Given the description of an element on the screen output the (x, y) to click on. 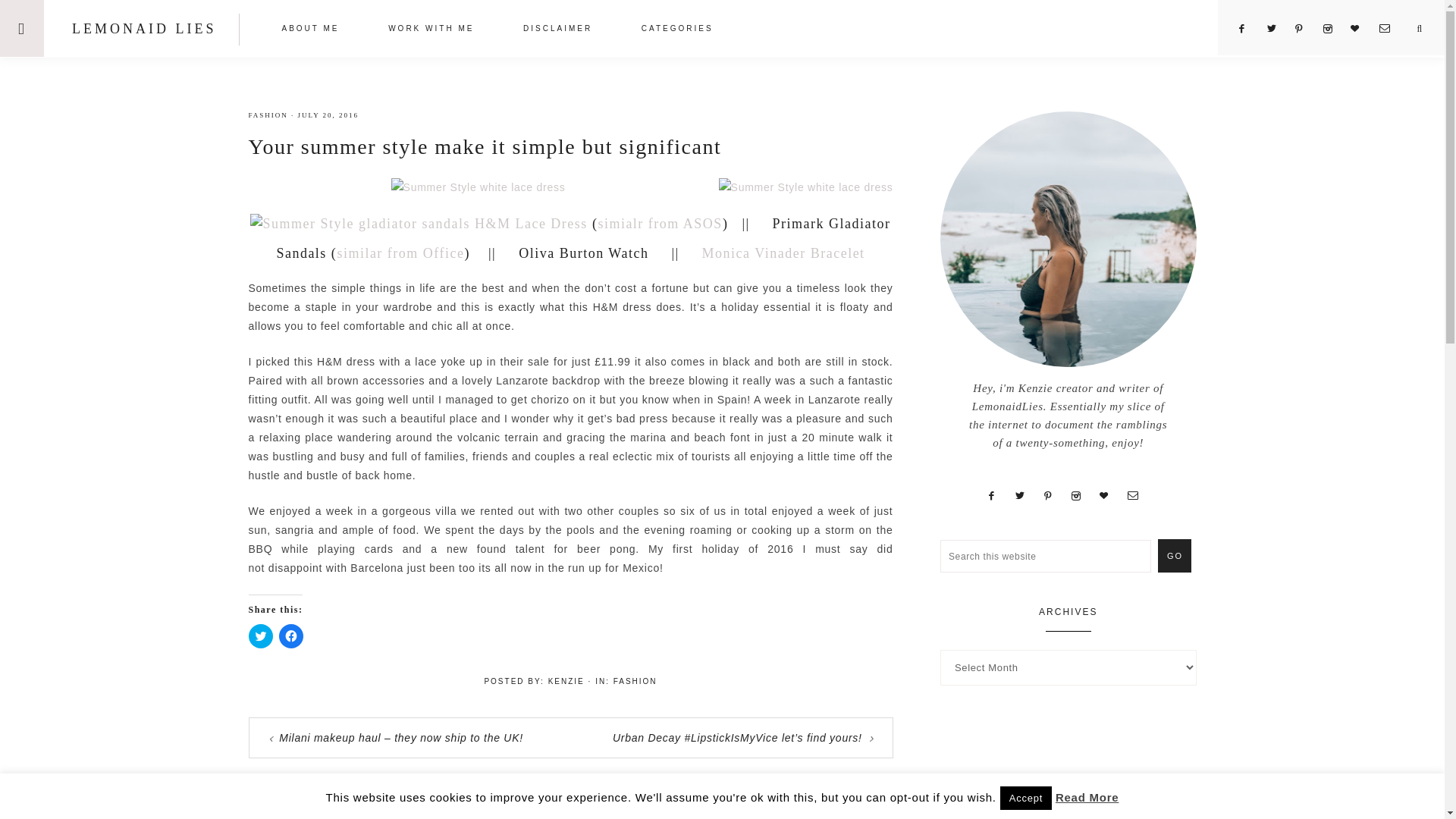
GO (1174, 555)
Pinterest (1305, 29)
ABOUT ME (310, 29)
Click to share on Facebook (290, 636)
Click to share on Twitter (260, 636)
LEMONAID LIES (143, 28)
Bloglovin (1361, 29)
DISCLAIMER (557, 29)
GO (1174, 555)
Facebook (1248, 29)
CATEGORIES (677, 29)
WORK WITH ME (430, 29)
FASHION (268, 114)
Instagram (1332, 29)
Twitter (1277, 29)
